Given the description of an element on the screen output the (x, y) to click on. 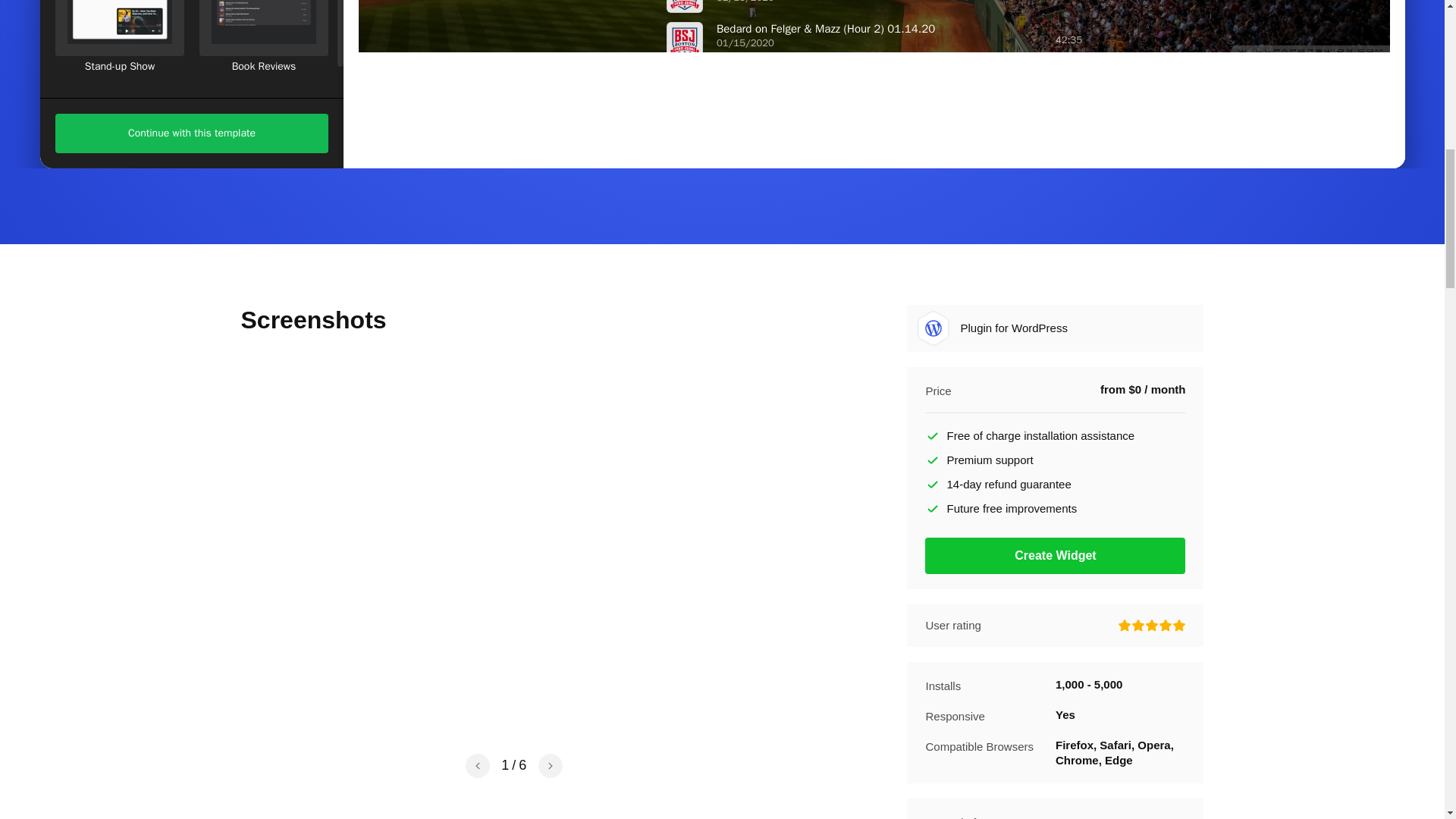
Plugin for WordPress (933, 328)
